Given the description of an element on the screen output the (x, y) to click on. 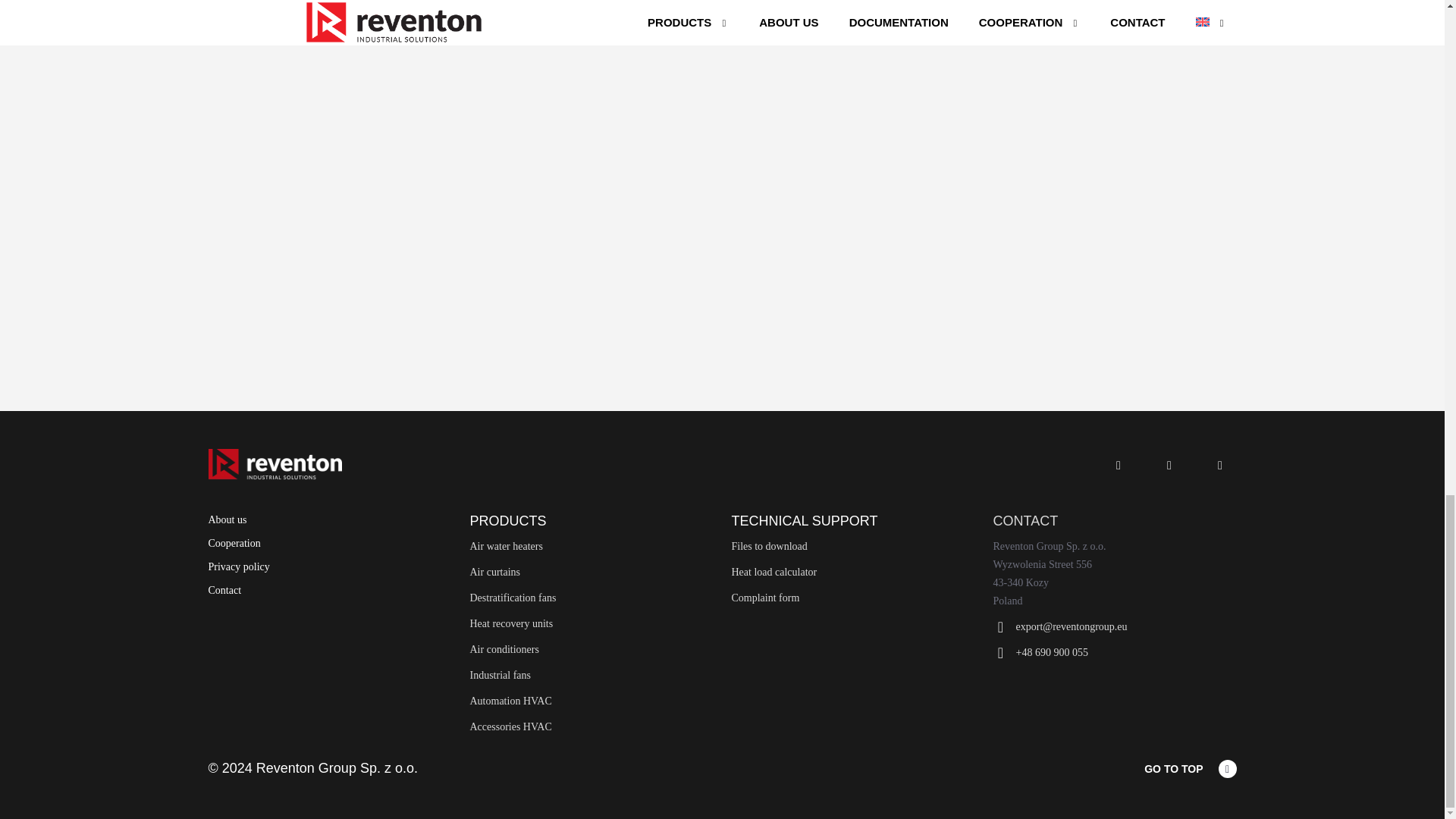
About us (329, 523)
Cooperation (329, 546)
Privacy policy (329, 570)
GO TO TOP (1189, 784)
